Given the description of an element on the screen output the (x, y) to click on. 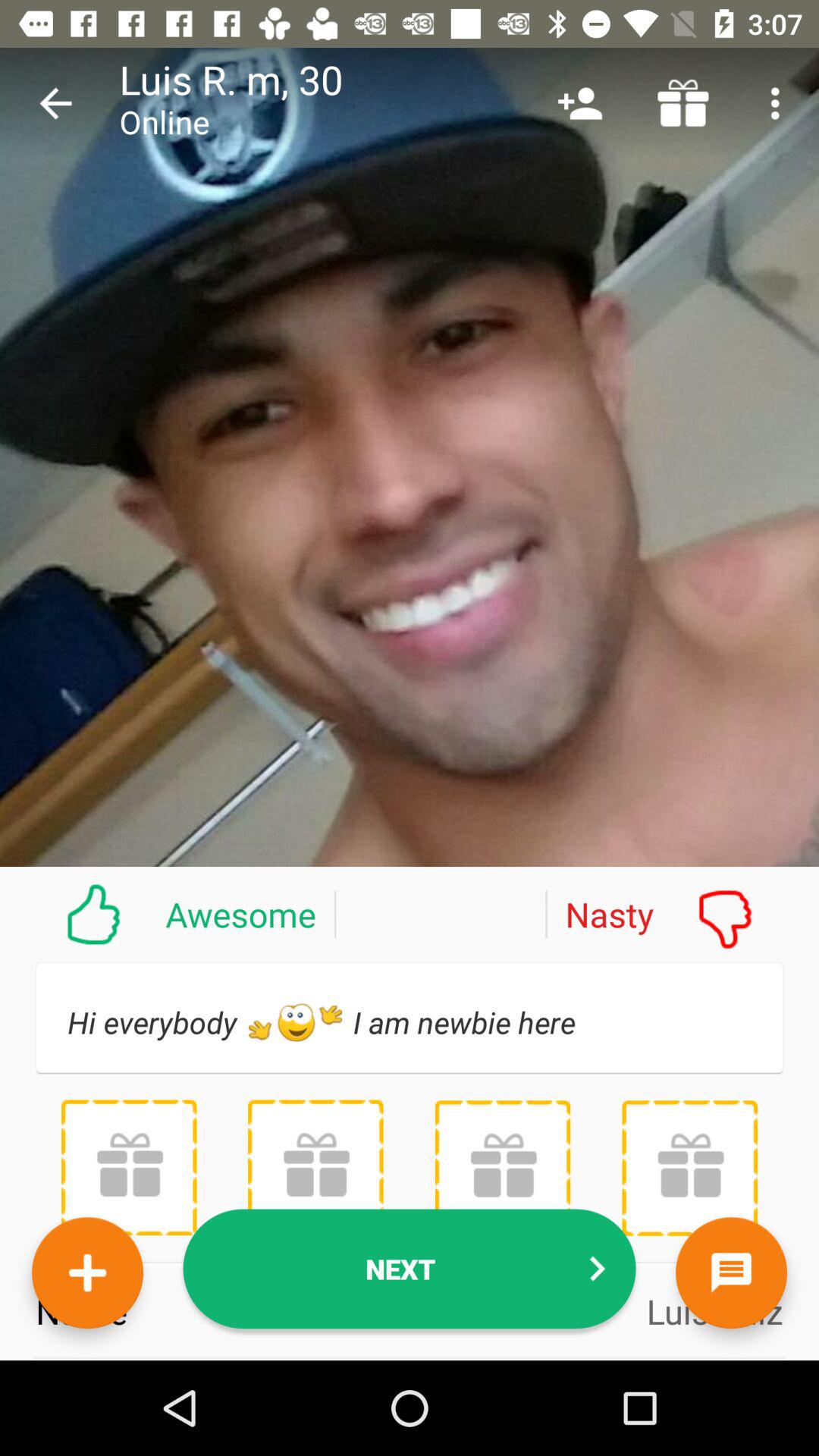
open the icon on the right (682, 914)
